Given the description of an element on the screen output the (x, y) to click on. 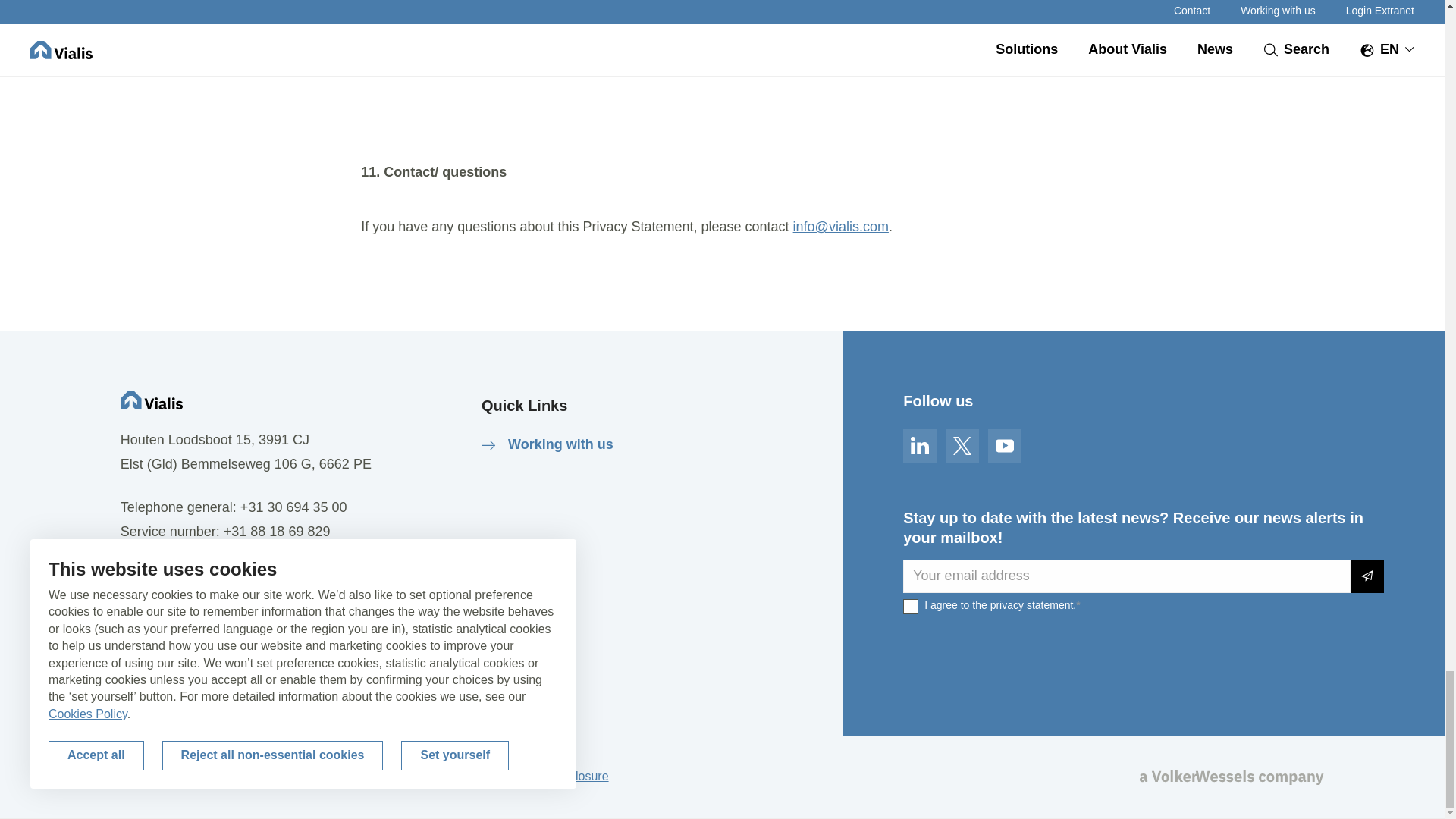
Submit (1367, 575)
Submit (1367, 575)
Privacy policy (415, 776)
LinkedIn (919, 445)
Working with us (547, 444)
Responsible disclosure (545, 776)
Change cookie settings (183, 776)
privacy statement. (1033, 604)
Cookie policy (312, 776)
Contact (159, 578)
YouTube (1005, 445)
Twitter (961, 445)
